Given the description of an element on the screen output the (x, y) to click on. 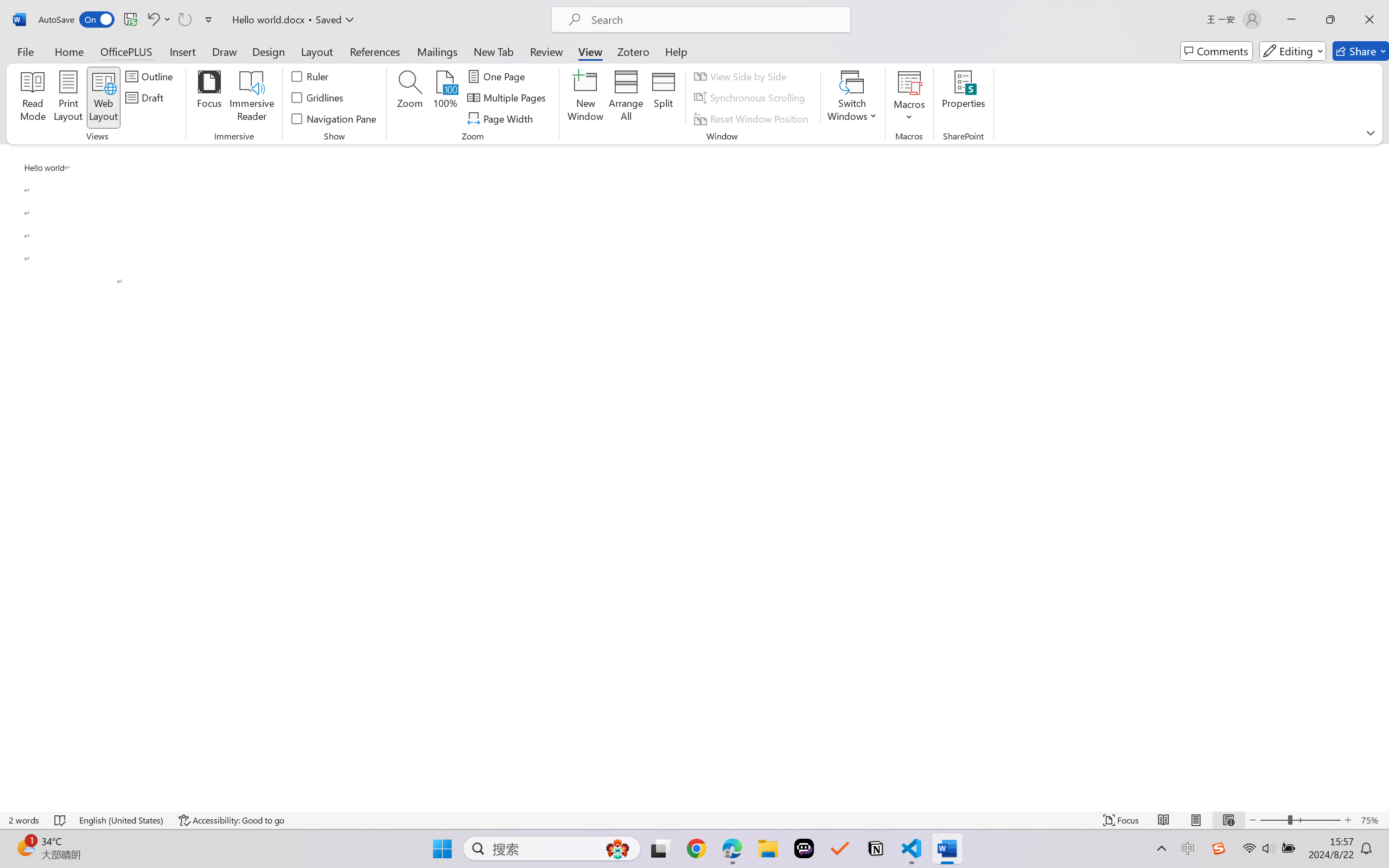
Undo Paragraph Formatting (158, 19)
Help (675, 51)
Layout (316, 51)
Multiple Pages (507, 97)
Review (546, 51)
Restore Down (1330, 19)
References (375, 51)
Spelling and Grammar Check No Errors (60, 819)
Draw (224, 51)
More Options (909, 112)
Zoom (1300, 819)
Word Count 2 words (23, 819)
Class: MsoCommandBar (694, 819)
